Given the description of an element on the screen output the (x, y) to click on. 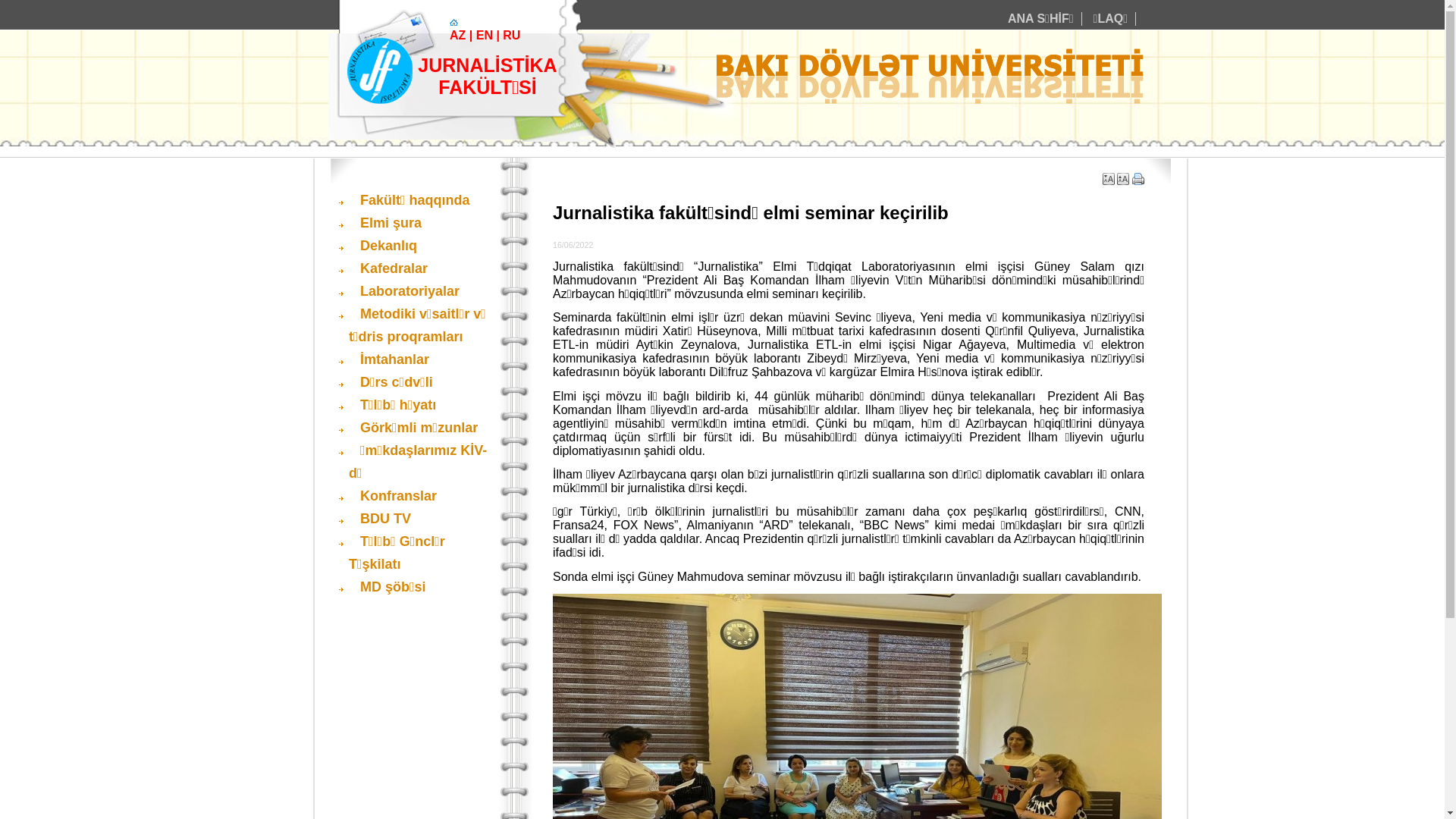
Laboratoriyalar Element type: text (403, 290)
AZ Element type: text (457, 34)
Kafedralar Element type: text (387, 268)
EN Element type: text (484, 34)
BDU TV Element type: text (379, 518)
RU Element type: text (511, 34)
Konfranslar Element type: text (392, 495)
